Given the description of an element on the screen output the (x, y) to click on. 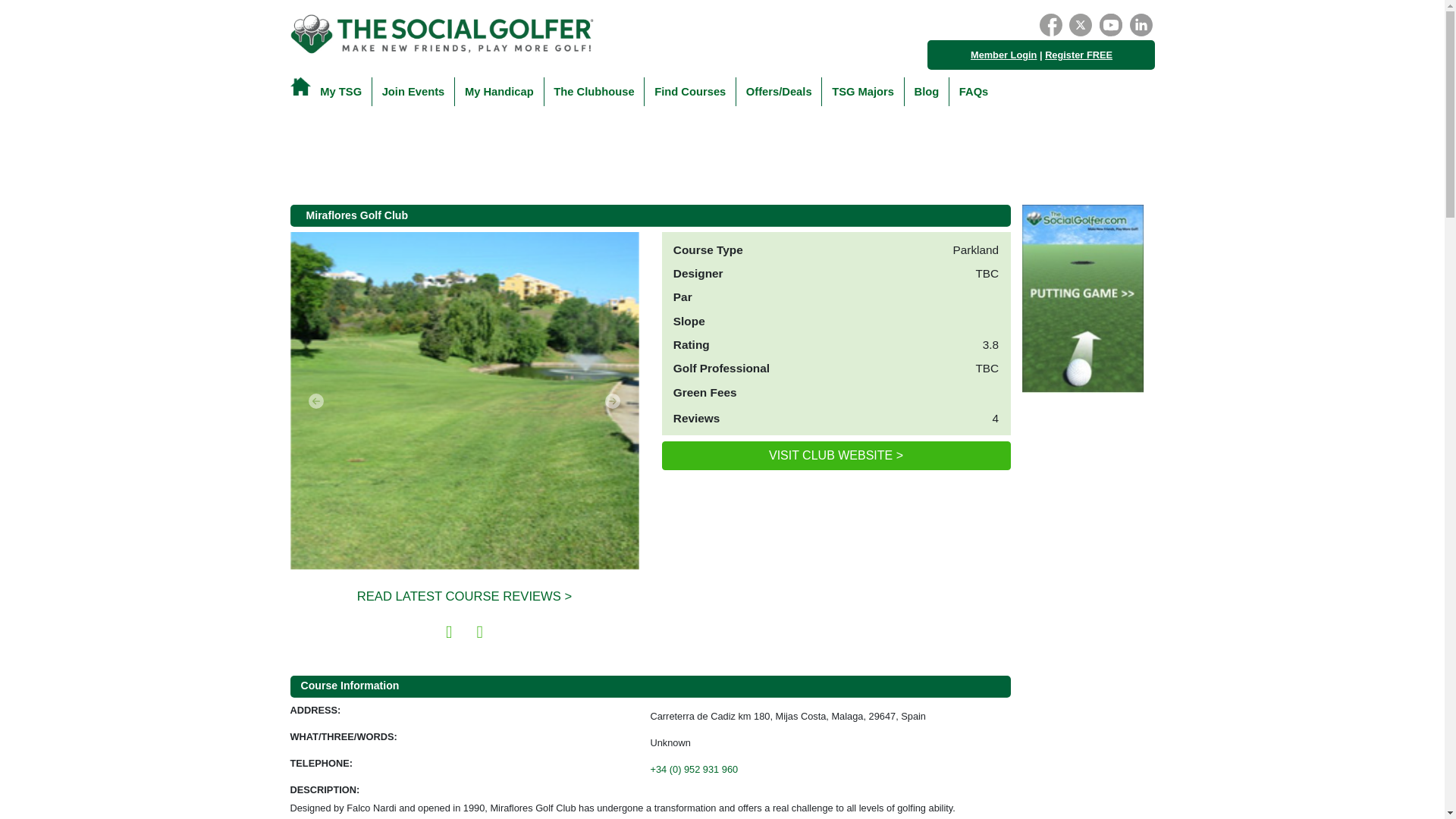
Existing member login (1003, 54)
